Given the description of an element on the screen output the (x, y) to click on. 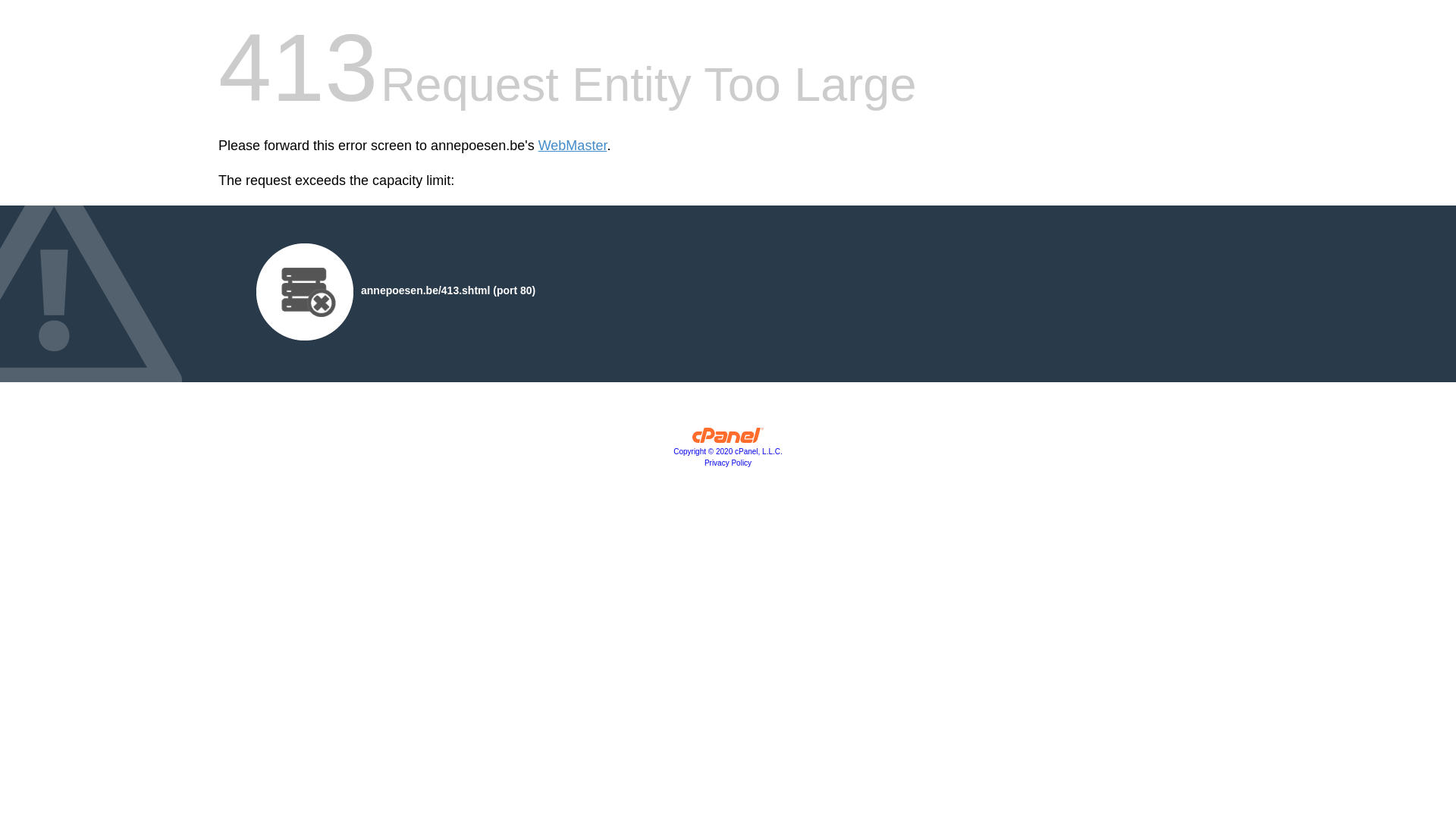
cPanel, Inc. Element type: hover (728, 439)
WebMaster Element type: text (572, 145)
Privacy Policy Element type: text (727, 462)
